Given the description of an element on the screen output the (x, y) to click on. 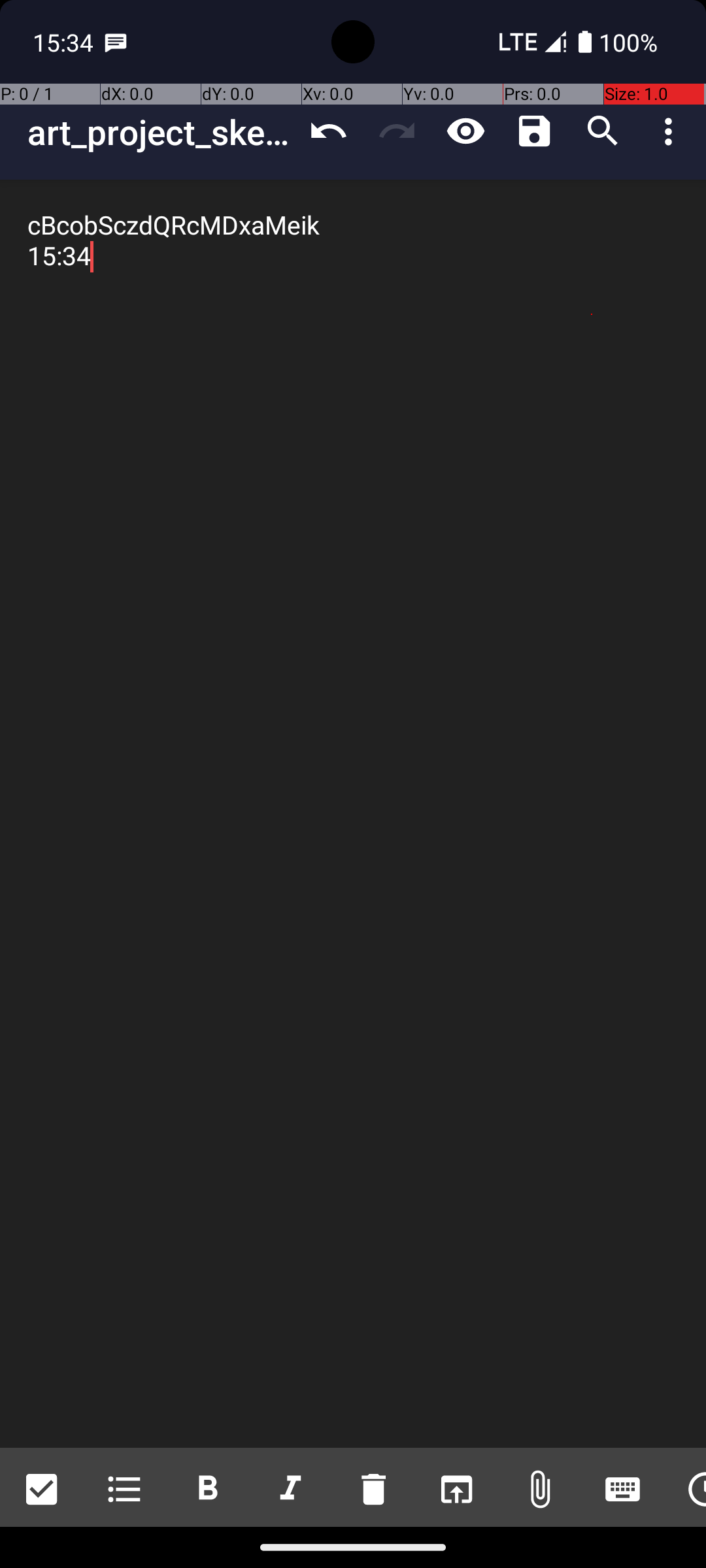
art_project_sketches_edited Element type: android.widget.TextView (160, 131)
cBcobSczdQRcMDxaMeik
15:34 Element type: android.widget.EditText (353, 813)
